Given the description of an element on the screen output the (x, y) to click on. 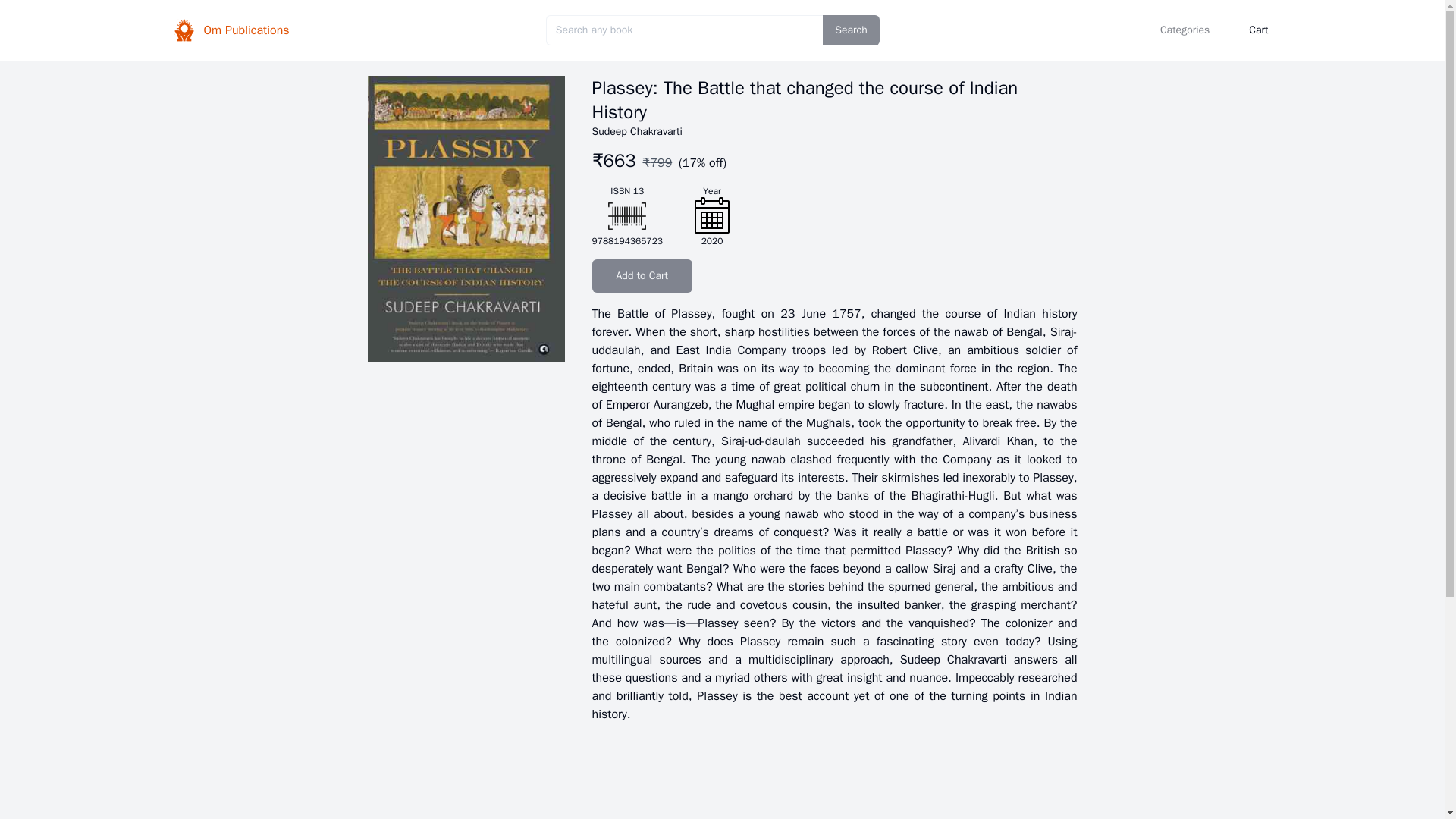
Add to Cart (642, 275)
Search (850, 30)
Categories (1184, 30)
Categories (1184, 30)
Cart (1257, 30)
